Given the description of an element on the screen output the (x, y) to click on. 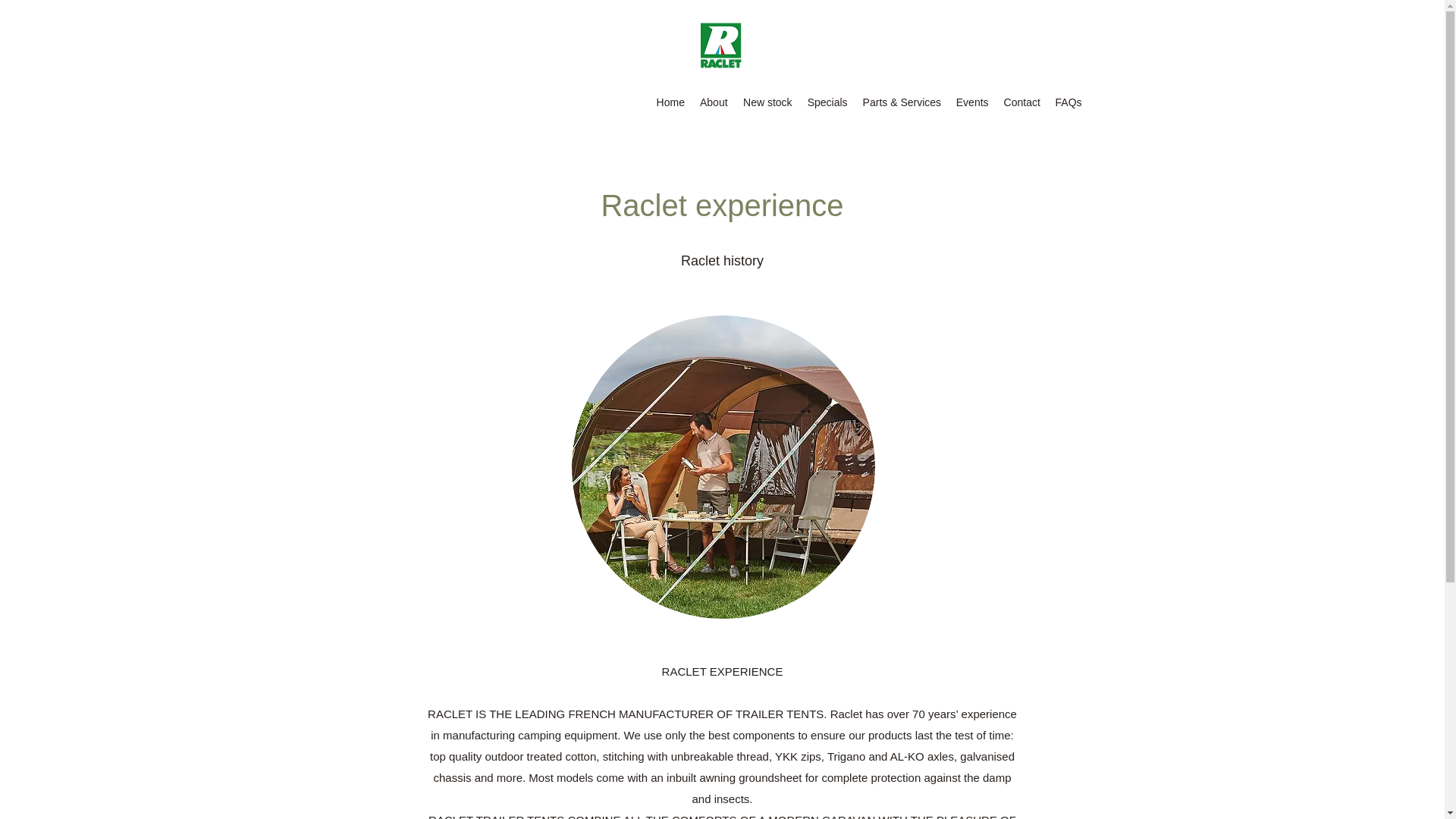
Events (972, 101)
FAQs (1068, 101)
About (714, 101)
Home (671, 101)
Specials (827, 101)
New stock (767, 101)
Contact (1021, 101)
